Given the description of an element on the screen output the (x, y) to click on. 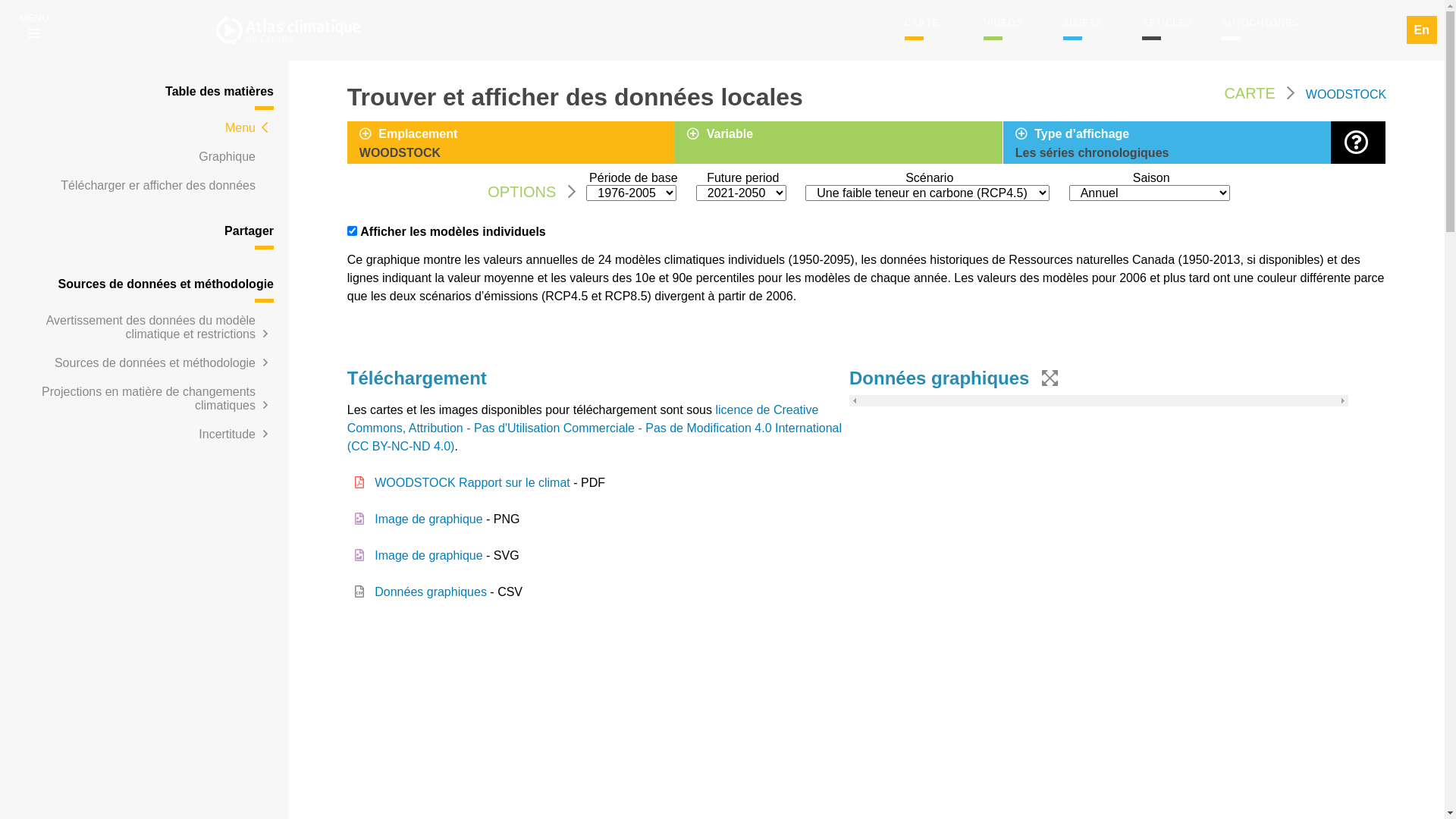
HELP Element type: hover (1358, 142)
WOODSTOCK Rapport sur le climat Element type: text (472, 482)
Variable Element type: text (844, 136)
SUJETS Element type: text (1082, 22)
WOODSTOCK Element type: text (1345, 93)
Graphique Element type: text (226, 156)
AUTOCHTONES Element type: text (1259, 22)
En Element type: text (1421, 29)
Emplacement
WOODSTOCK Element type: text (516, 143)
CARTE Element type: text (921, 22)
Image de graphique Element type: text (428, 555)
Image de graphique Element type: text (428, 518)
Incertitude Element type: text (226, 433)
ARTICLES Element type: text (1167, 22)
Menu Element type: text (240, 127)
Aller au contenu principal Element type: text (0, 0)
